Given the description of an element on the screen output the (x, y) to click on. 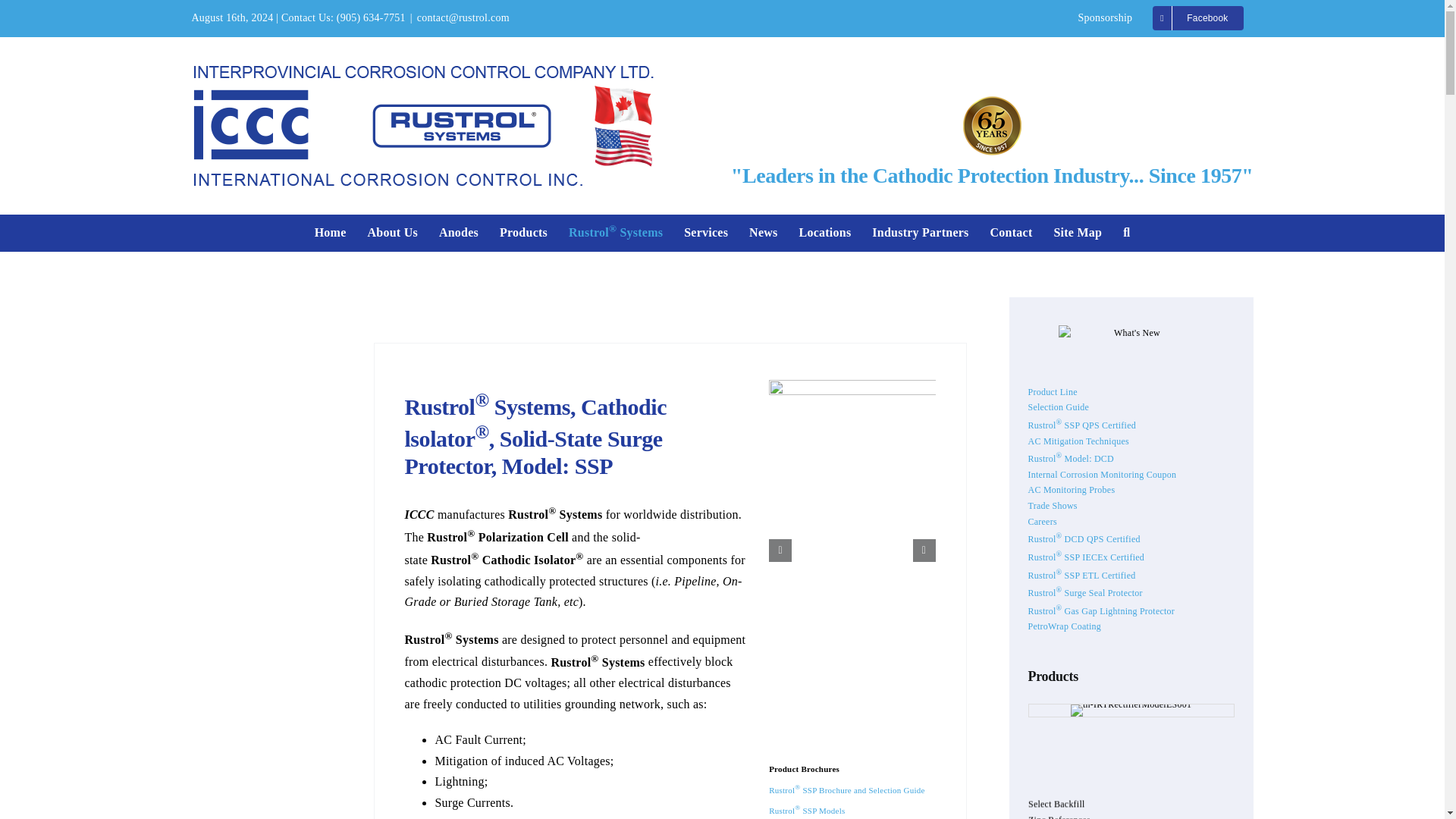
Facebook (1197, 18)
About Us (392, 232)
Products (523, 232)
Sponsorship (1104, 18)
Anodes (459, 232)
